Given the description of an element on the screen output the (x, y) to click on. 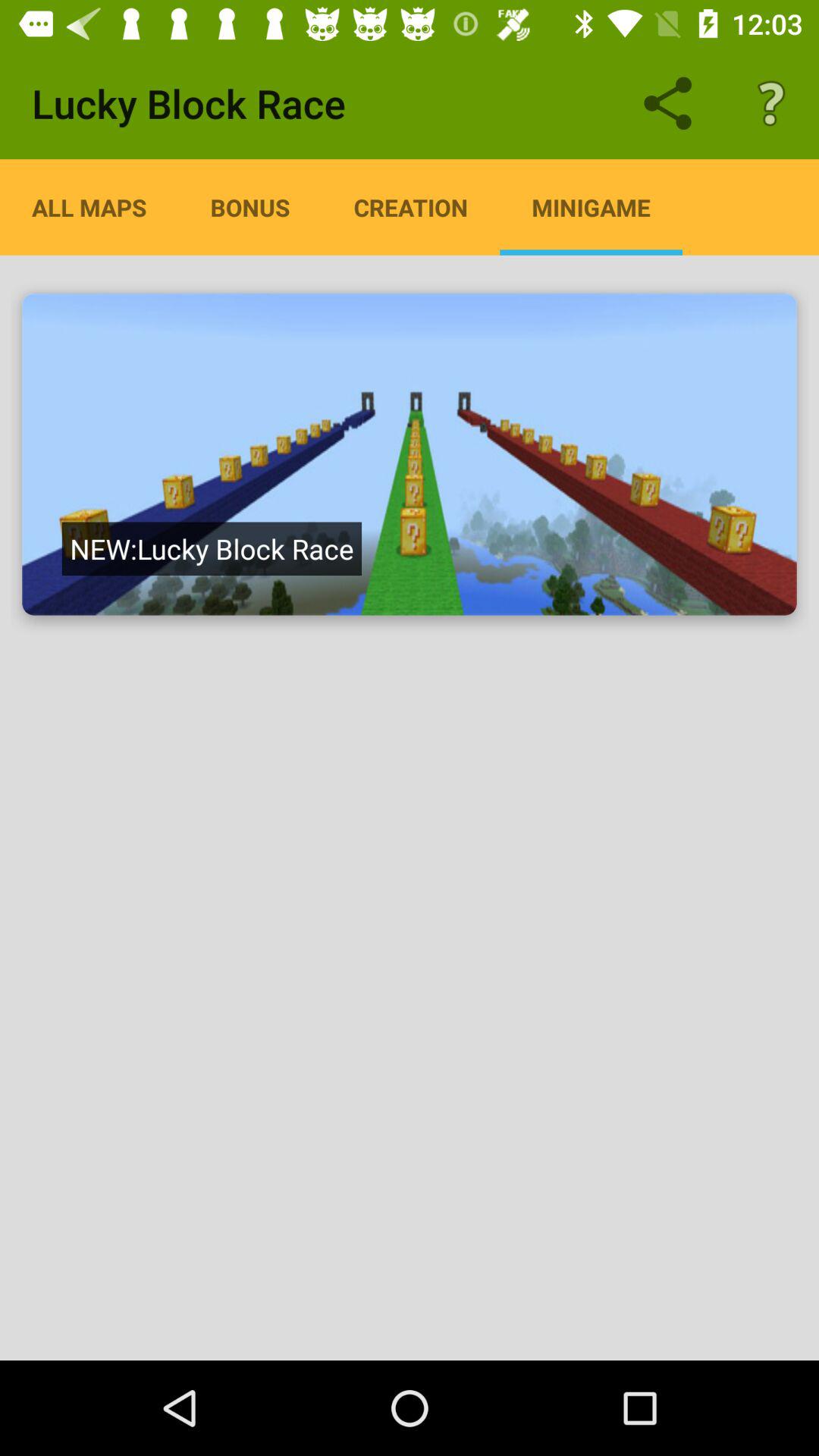
click the icon next to the all maps (249, 207)
